Given the description of an element on the screen output the (x, y) to click on. 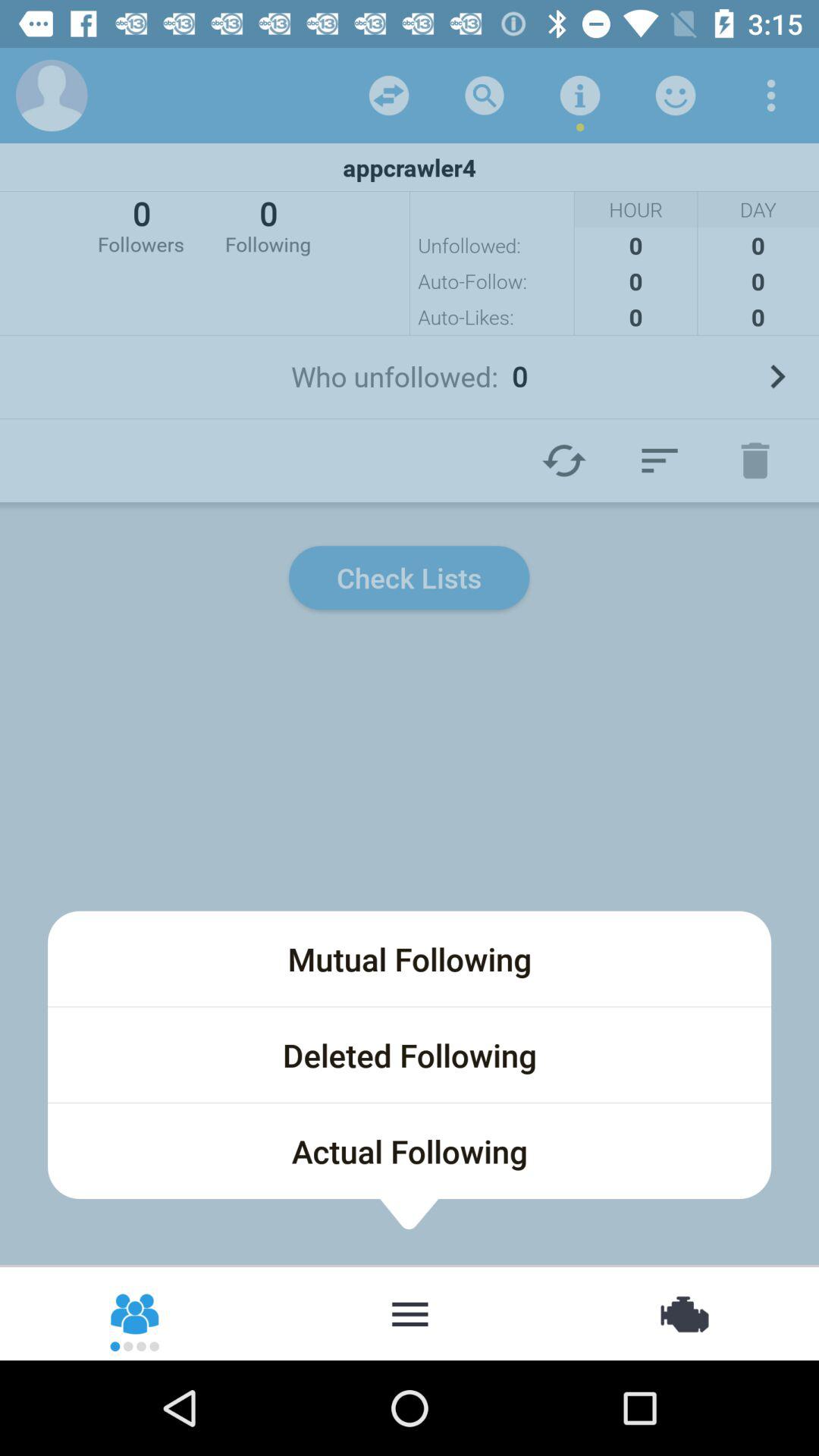
open icon to the right of the who unfollowed:  0 (777, 376)
